Given the description of an element on the screen output the (x, y) to click on. 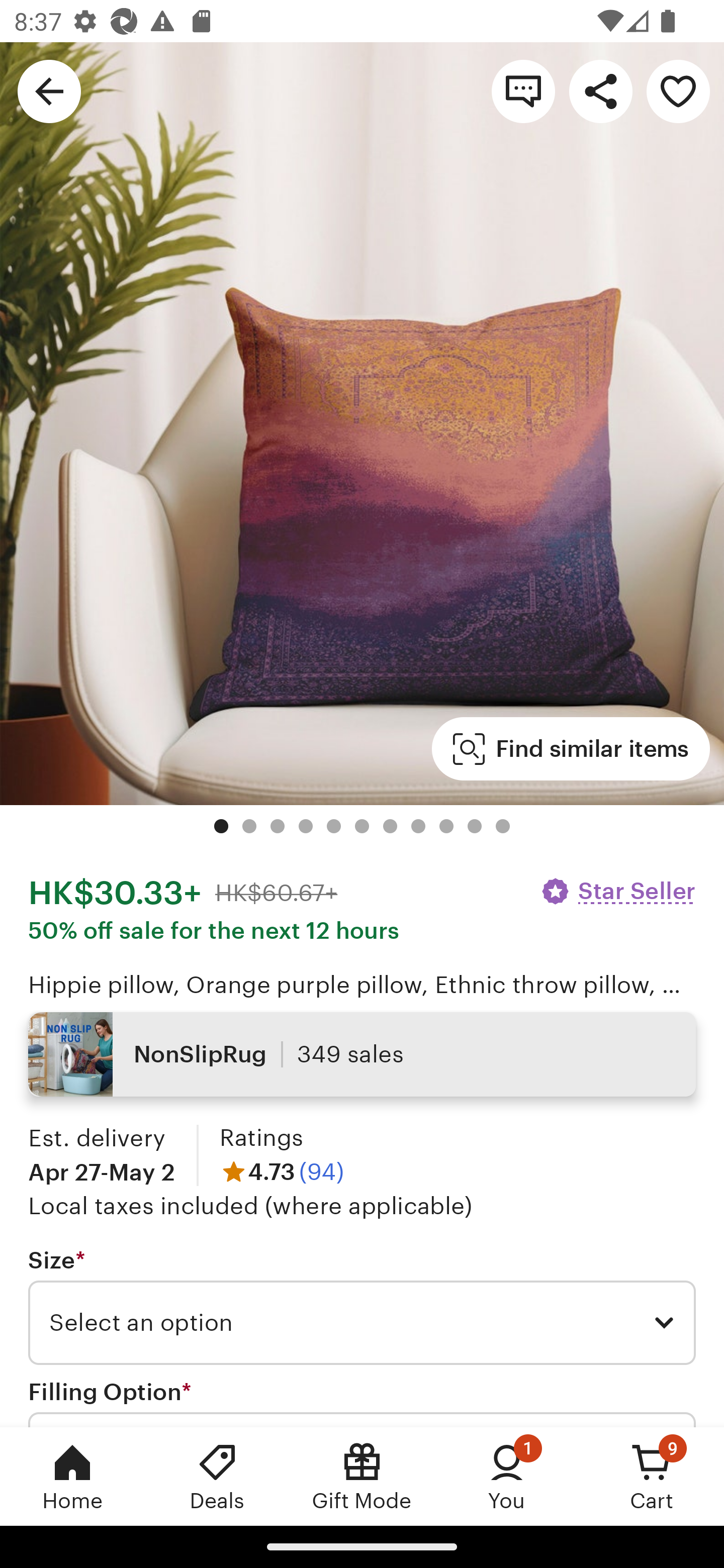
Navigate up (49, 90)
Contact shop (523, 90)
Share (600, 90)
Find similar items (571, 748)
Star Seller (617, 890)
NonSlipRug 349 sales (361, 1054)
Ratings (261, 1137)
4.73 (94) (281, 1171)
Size * Required Select an option (361, 1306)
Select an option (361, 1323)
Filling Option * Required Select an option (361, 1402)
Deals (216, 1475)
Gift Mode (361, 1475)
You, 1 new notification You (506, 1475)
Cart, 9 new notifications Cart (651, 1475)
